Given the description of an element on the screen output the (x, y) to click on. 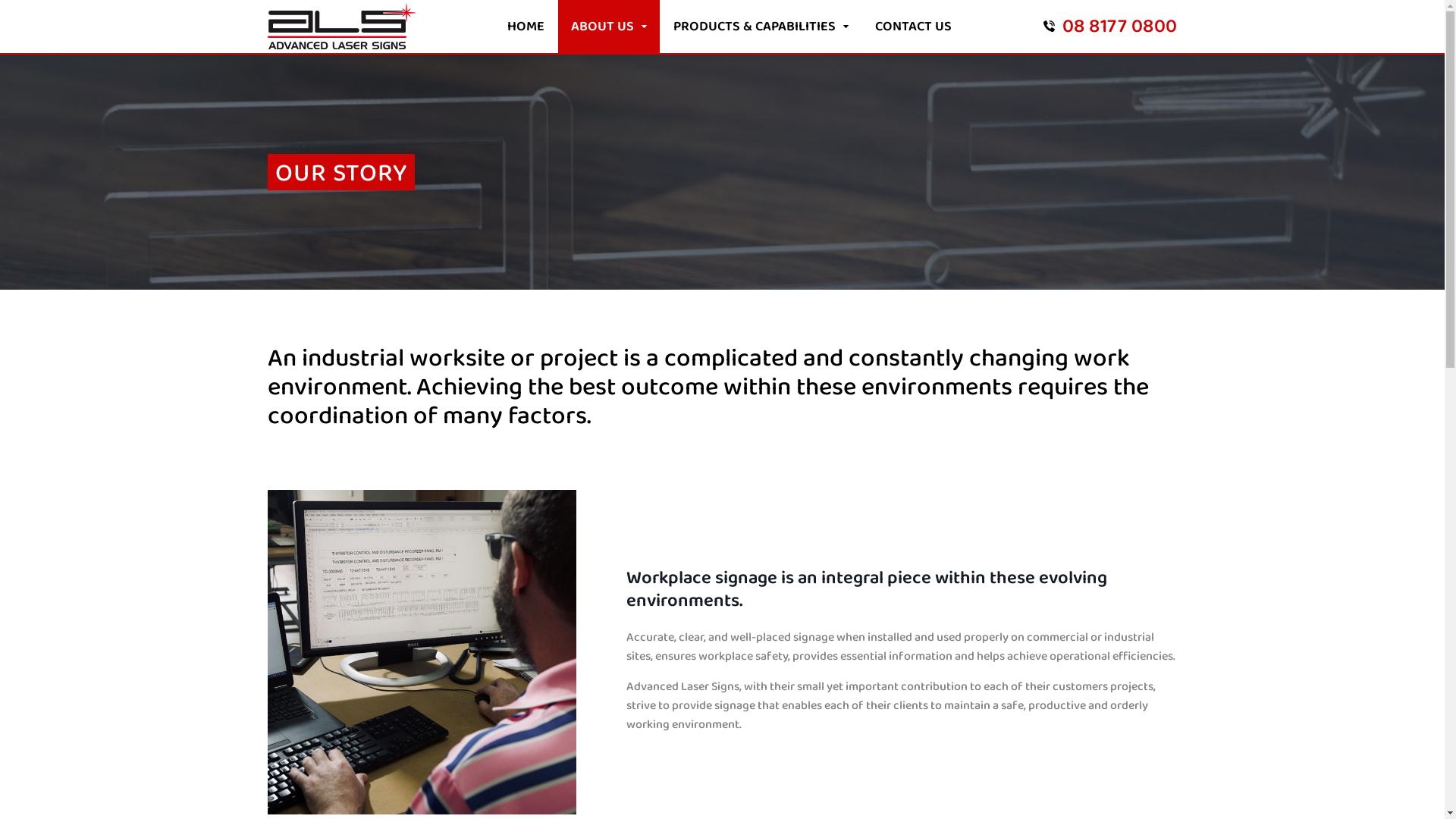
HOME Element type: text (525, 26)
08 8177 0800 Element type: text (1110, 26)
CONTACT US Element type: text (912, 26)
PRODUCTS & CAPABILITIES Element type: text (759, 26)
ABOUT US Element type: text (608, 26)
